Given the description of an element on the screen output the (x, y) to click on. 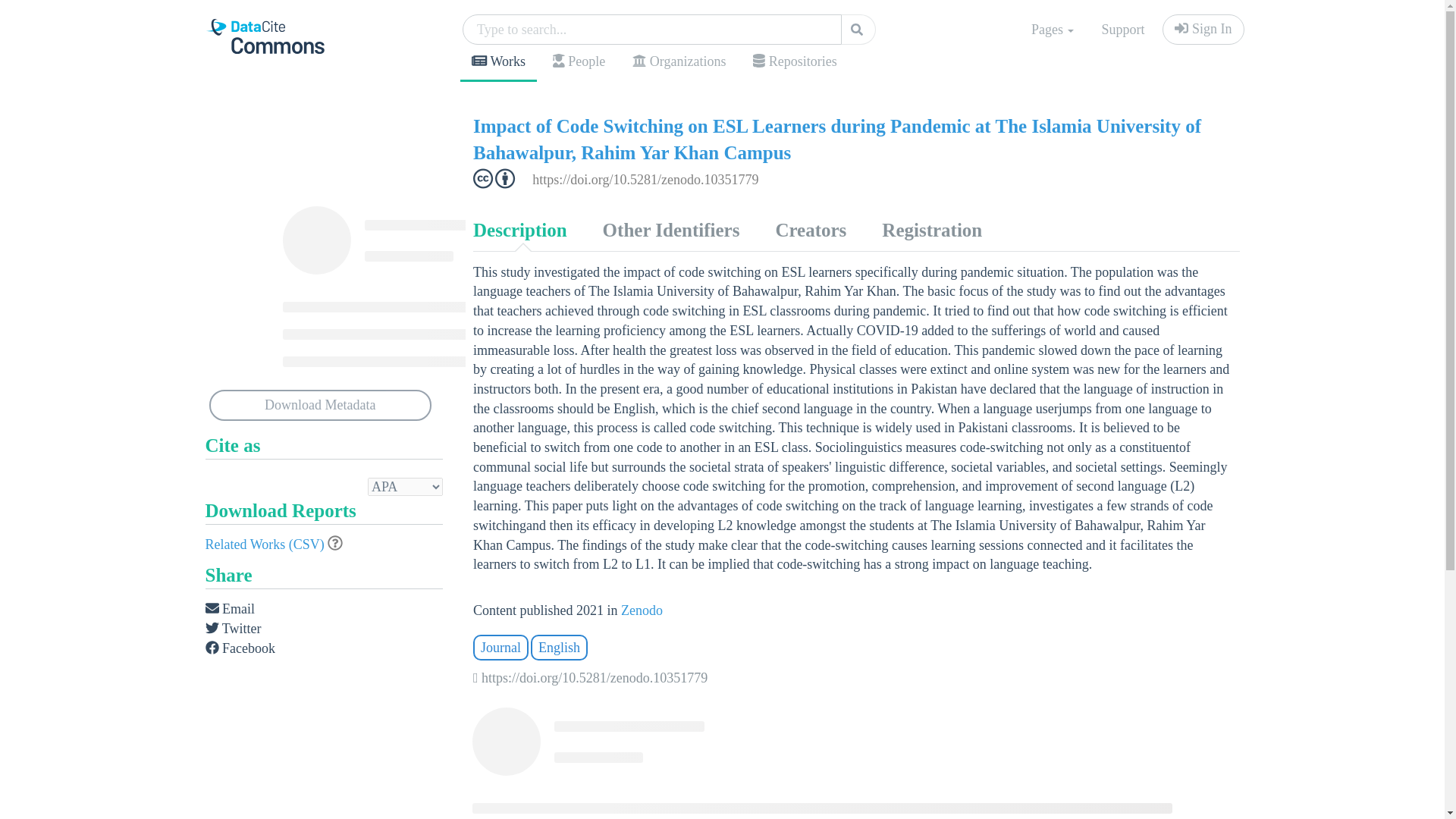
Works (498, 63)
Registration (931, 230)
Description (519, 230)
Other Identifiers (671, 230)
Creators (809, 230)
Twitter (232, 629)
Organizations (678, 62)
Download Metadata (320, 405)
Repositories (794, 62)
Pages (1053, 30)
Email (229, 609)
Facebook (240, 648)
Download Metadata (320, 405)
